Given the description of an element on the screen output the (x, y) to click on. 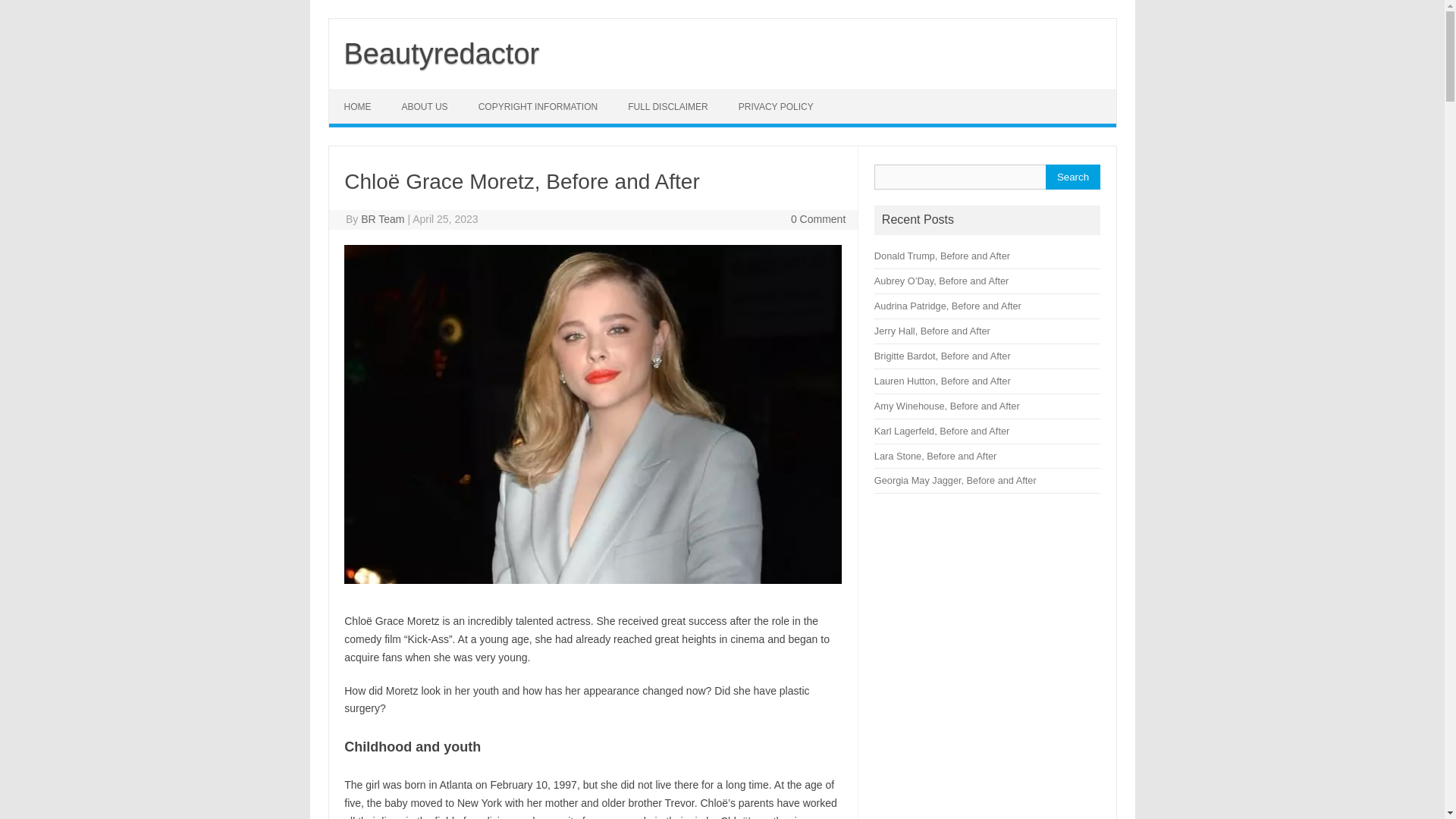
Amy Winehouse, Before and After (947, 405)
FULL DISCLAIMER (667, 106)
PRIVACY POLICY (775, 106)
Search (1072, 176)
Georgia May Jagger, Before and After (955, 480)
Posts by BR Team (382, 218)
Lauren Hutton, Before and After (942, 380)
COPYRIGHT INFORMATION (537, 106)
Jerry Hall, Before and After (932, 330)
Donald Trump, Before and After (942, 255)
